Given the description of an element on the screen output the (x, y) to click on. 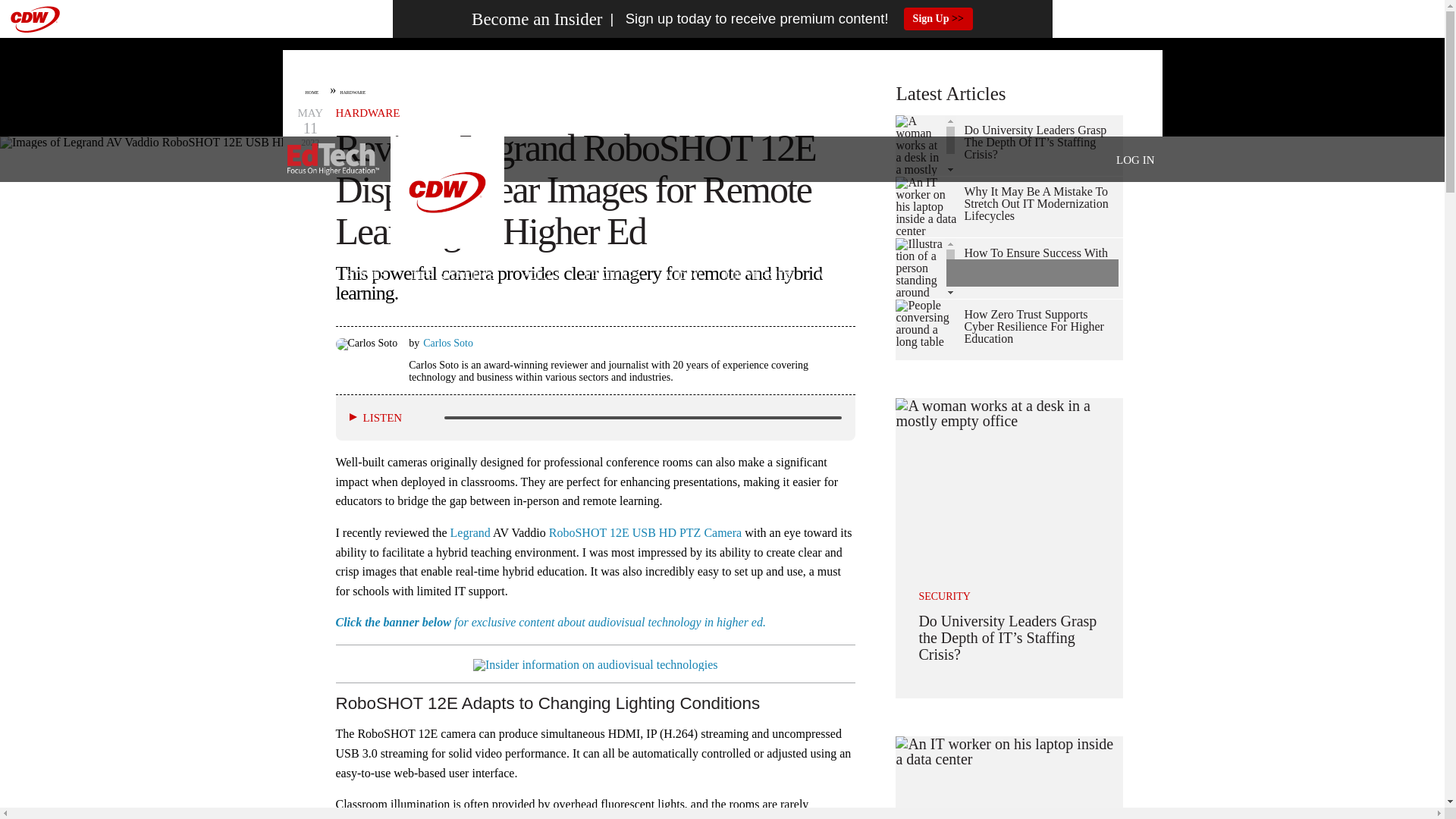
Sign up today to receive premium content! (745, 19)
advertisement (721, 87)
STATES (365, 275)
UNIVERSITY (759, 275)
CDW (446, 244)
Home (332, 158)
LOG IN (1135, 159)
User menu (1135, 160)
VIDEO (682, 275)
VOICES (539, 275)
FEATURES (612, 275)
Become an Insider (536, 18)
Sign Up (938, 18)
